Given the description of an element on the screen output the (x, y) to click on. 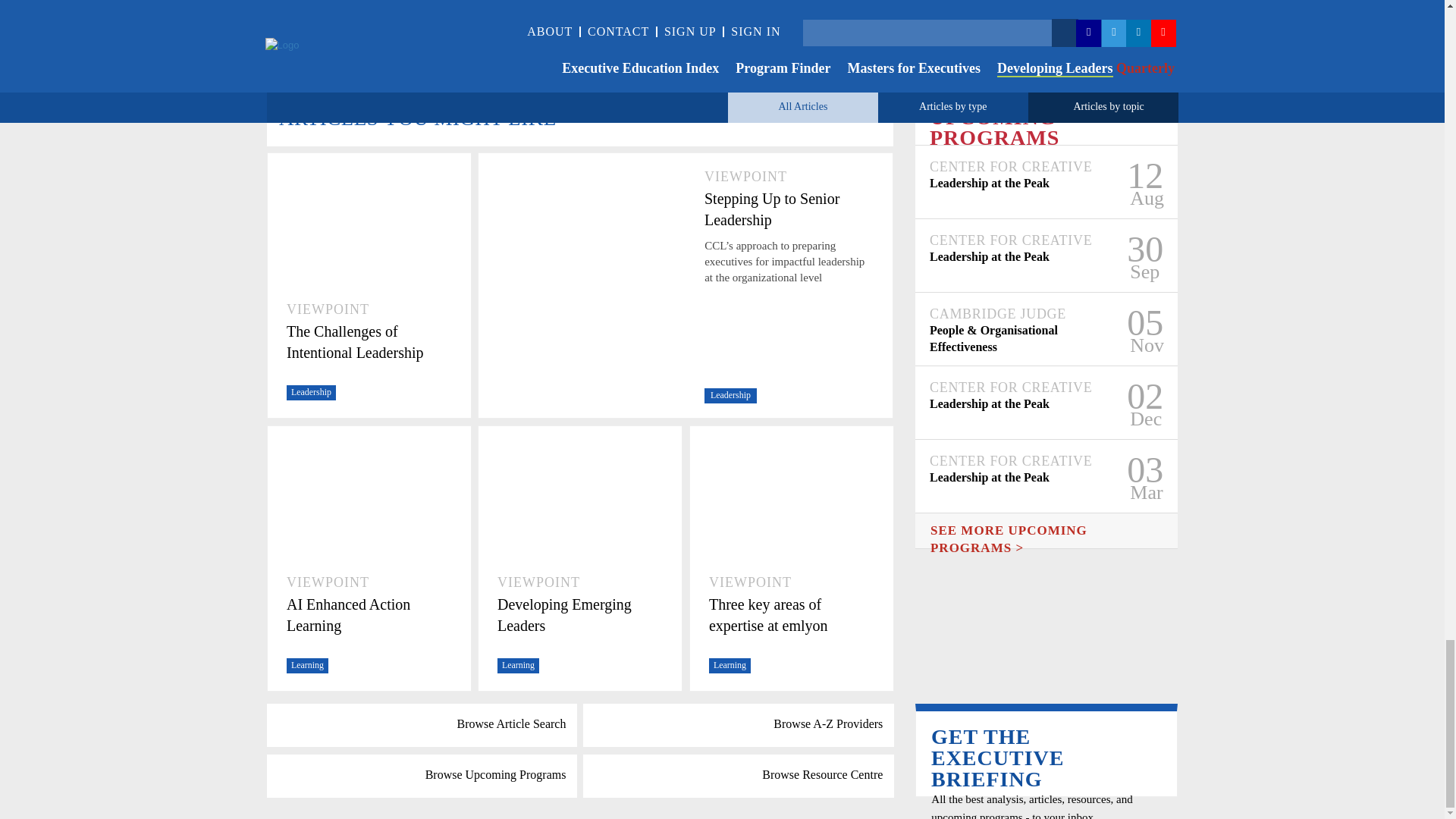
Three key areas of expertise at emlyon business school (792, 616)
The Challenges of Intentional Leadership (368, 342)
Stepping Up to Senior Leadership  (788, 209)
AI Enhanced Action Learning (368, 614)
Developing Emerging Leaders (579, 614)
